Given the description of an element on the screen output the (x, y) to click on. 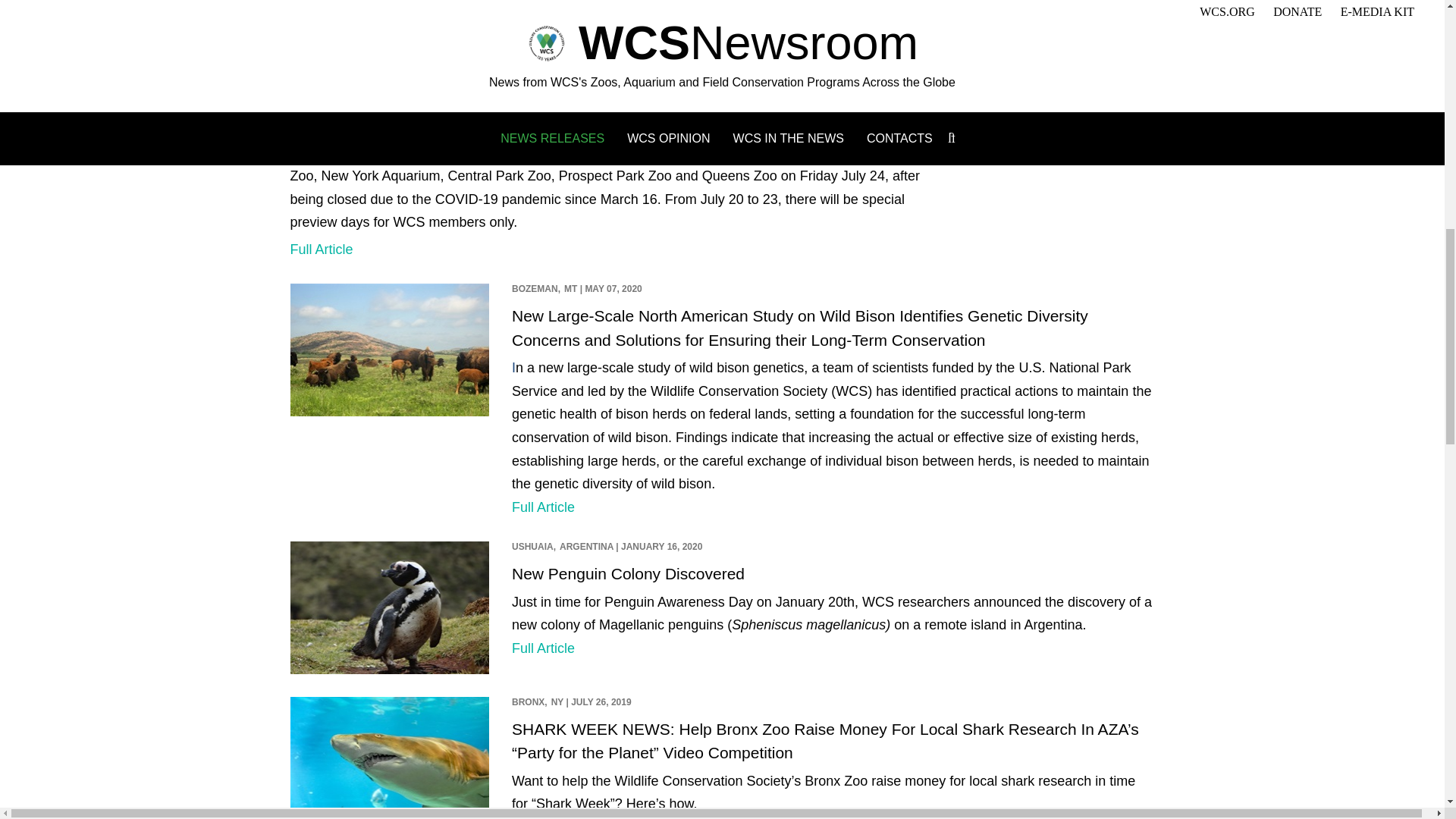
Full Article (543, 54)
Full Article (320, 249)
New Penguin Colony Discovered (628, 573)
Full Article (543, 648)
Full Article (543, 507)
